Given the description of an element on the screen output the (x, y) to click on. 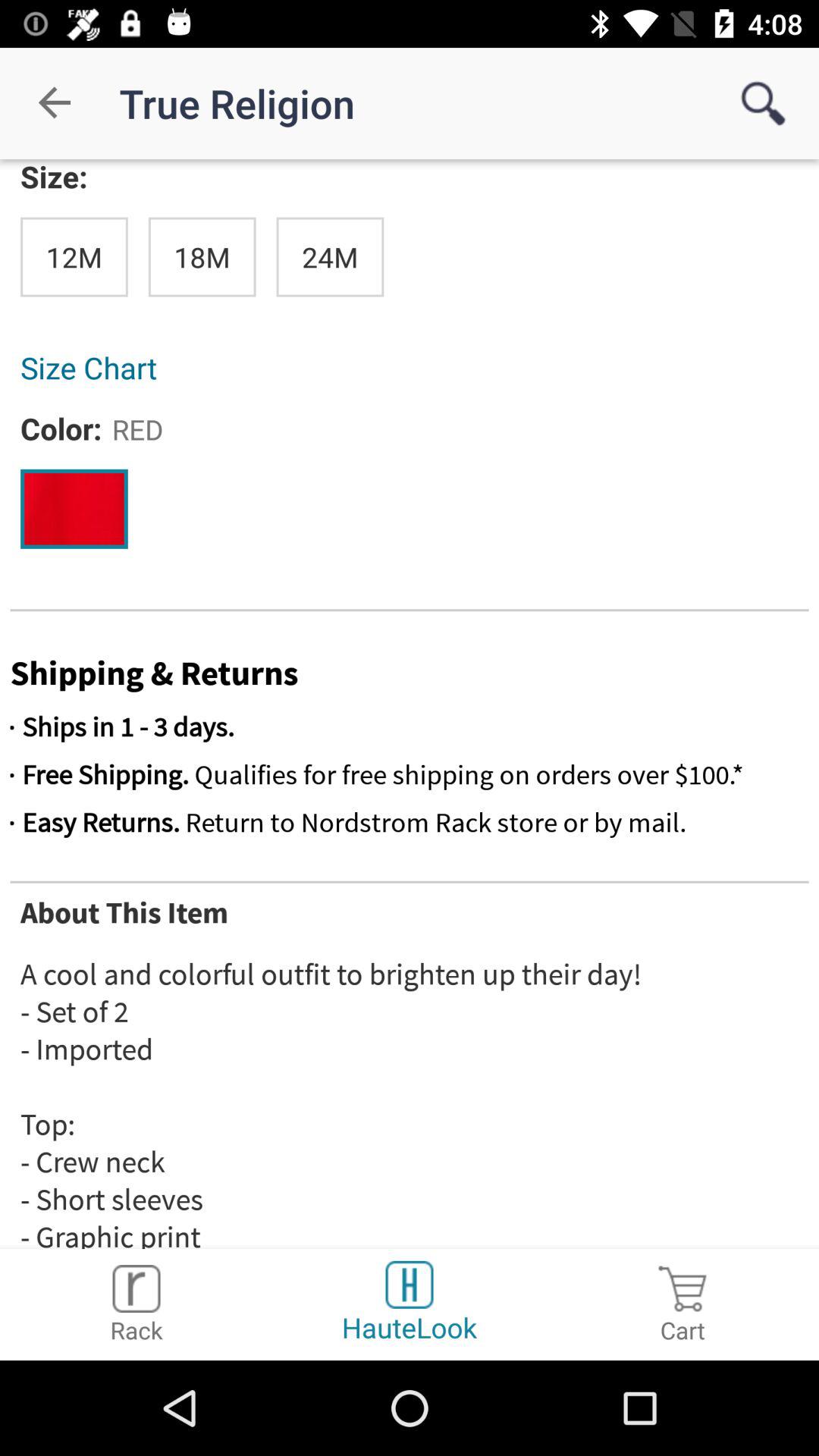
turn off icon to the right of the 18m (329, 256)
